Given the description of an element on the screen output the (x, y) to click on. 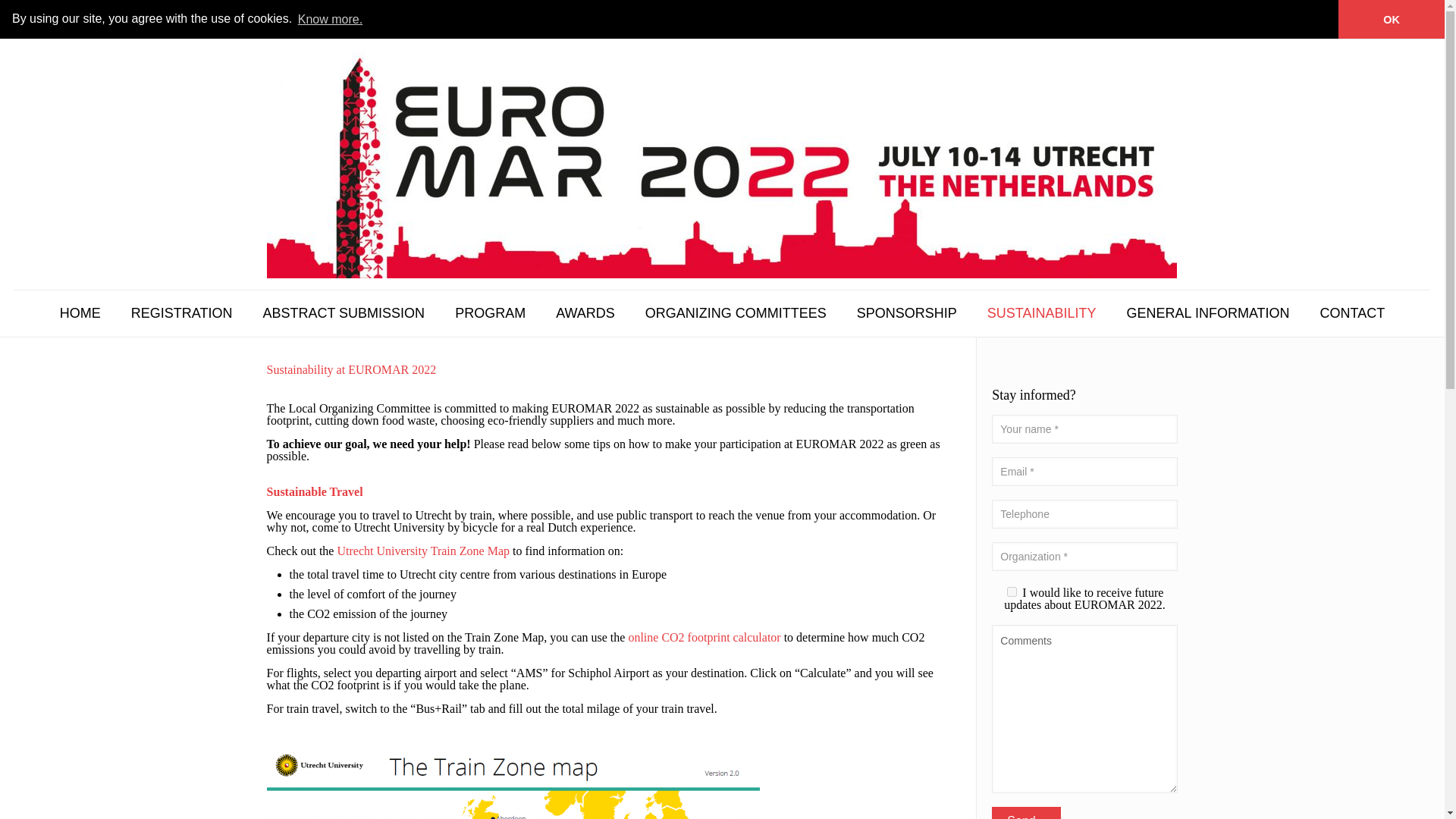
Travel zone map (513, 780)
CONTACT (1352, 312)
SUSTAINABILITY (1042, 312)
GENERAL INFORMATION (1208, 312)
ABSTRACT SUBMISSION (343, 312)
AWARDS (585, 312)
PROGRAM (489, 312)
Utrecht University Train Zone Map (422, 550)
Know more. (330, 18)
REGISTRATION (181, 312)
ORGANIZING COMMITTEES (735, 312)
SPONSORSHIP (906, 312)
I would like to receive future updates about EUROMAR 2022. (1011, 592)
HOME (80, 312)
